Given the description of an element on the screen output the (x, y) to click on. 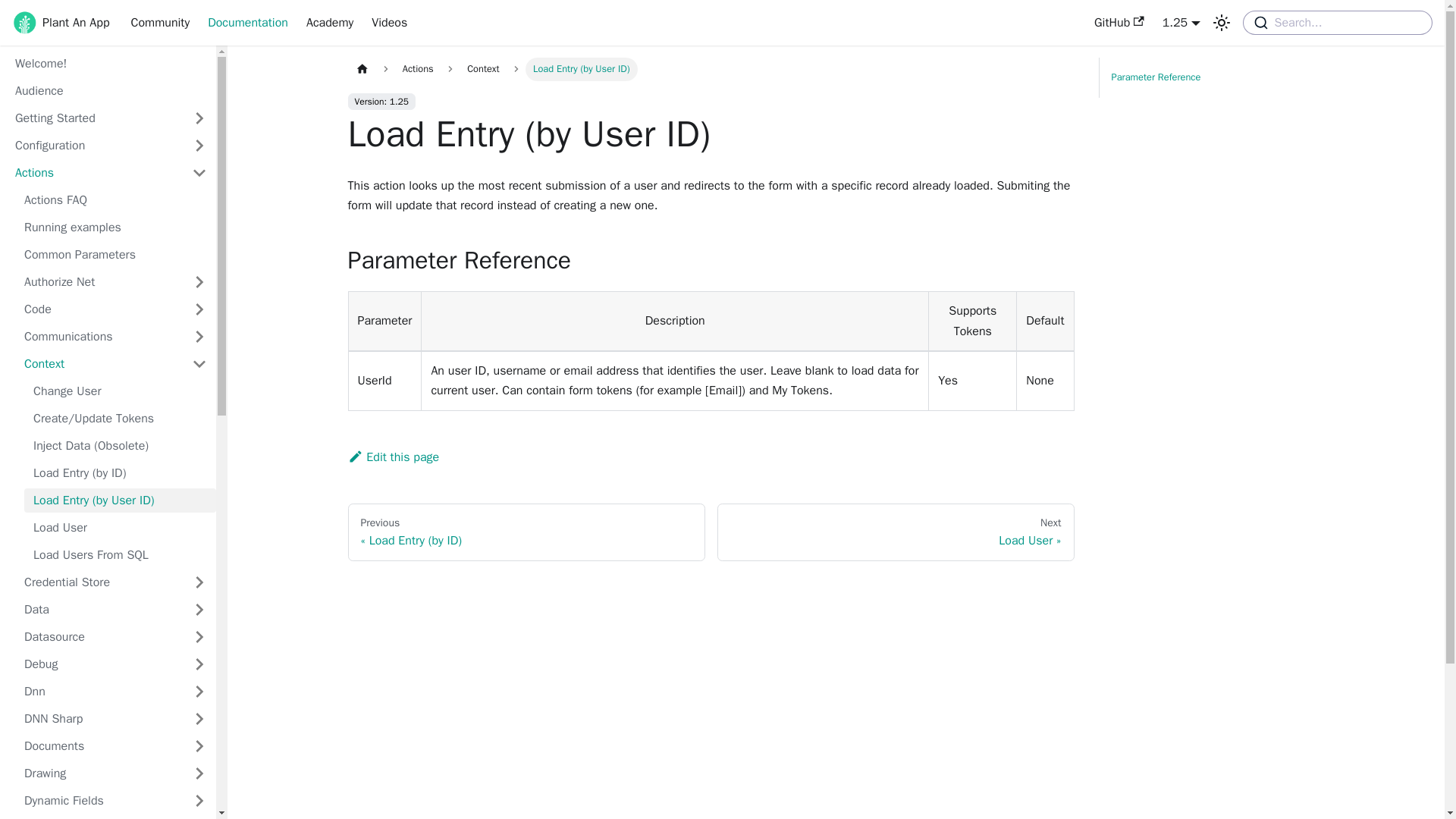
Search... (1337, 22)
Welcome! (110, 63)
Communications (98, 336)
GitHub (1118, 22)
Academy (329, 22)
Change User (119, 391)
Getting Started (94, 118)
Videos (389, 22)
Common Parameters (114, 254)
Context (98, 363)
